Given the description of an element on the screen output the (x, y) to click on. 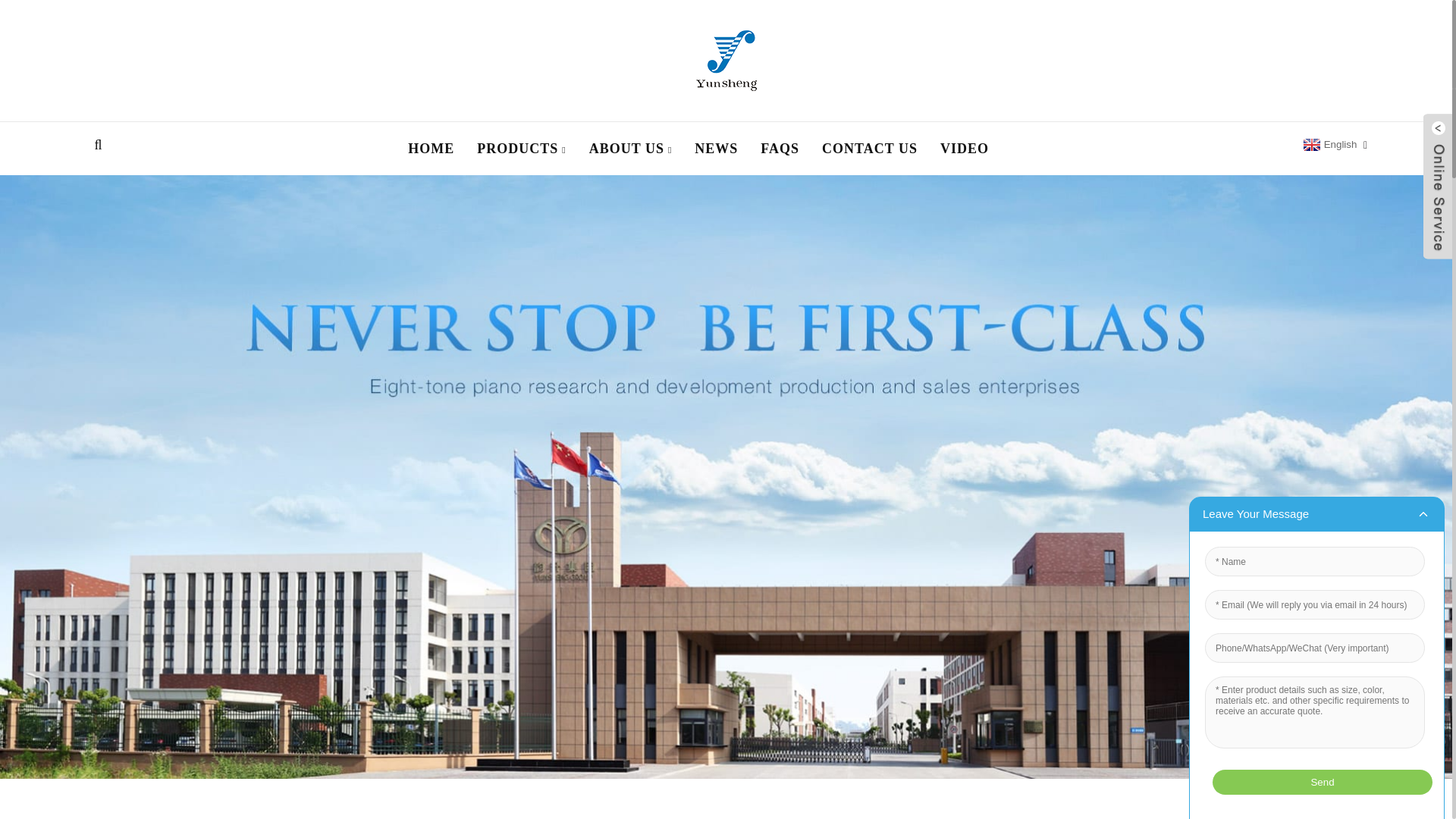
Getting started (288, 818)
VIDEO (964, 148)
English (1328, 144)
NEWS (716, 148)
HOME (430, 148)
FAQS (779, 148)
ABOUT US (630, 148)
CONTACT US (869, 148)
PRODUCTS (521, 148)
